Given the description of an element on the screen output the (x, y) to click on. 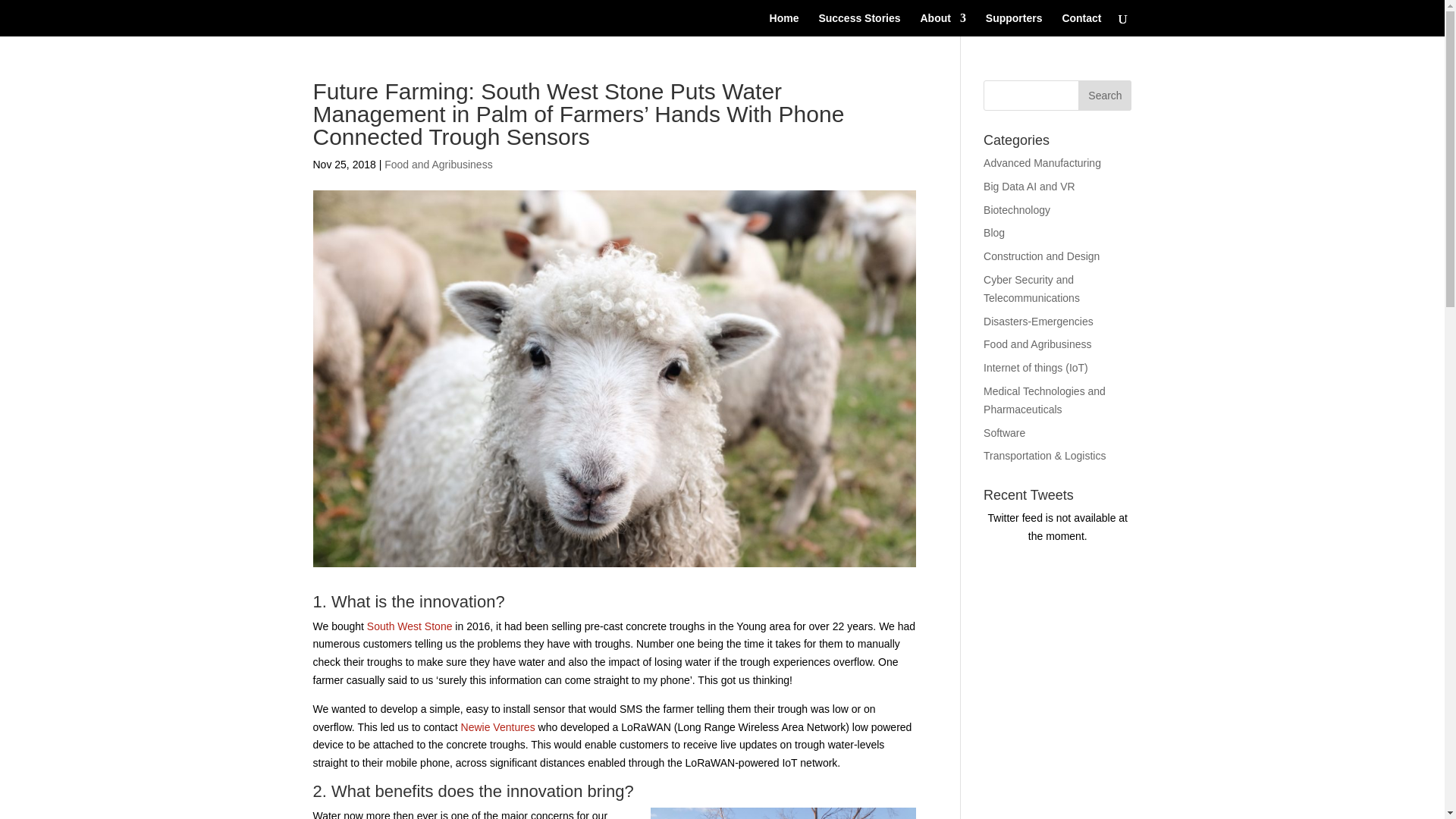
Big Data AI and VR (1029, 186)
Search (1104, 95)
Home (784, 24)
Contact (1080, 24)
Food and Agribusiness (1037, 344)
Cyber Security and Telecommunications (1032, 288)
Biotechnology (1016, 209)
Success Stories (858, 24)
Construction and Design (1041, 256)
Food and Agribusiness (438, 164)
Newie Ventures (498, 727)
Software (1004, 432)
Advanced Manufacturing (1042, 162)
Blog (994, 232)
Search (1104, 95)
